Given the description of an element on the screen output the (x, y) to click on. 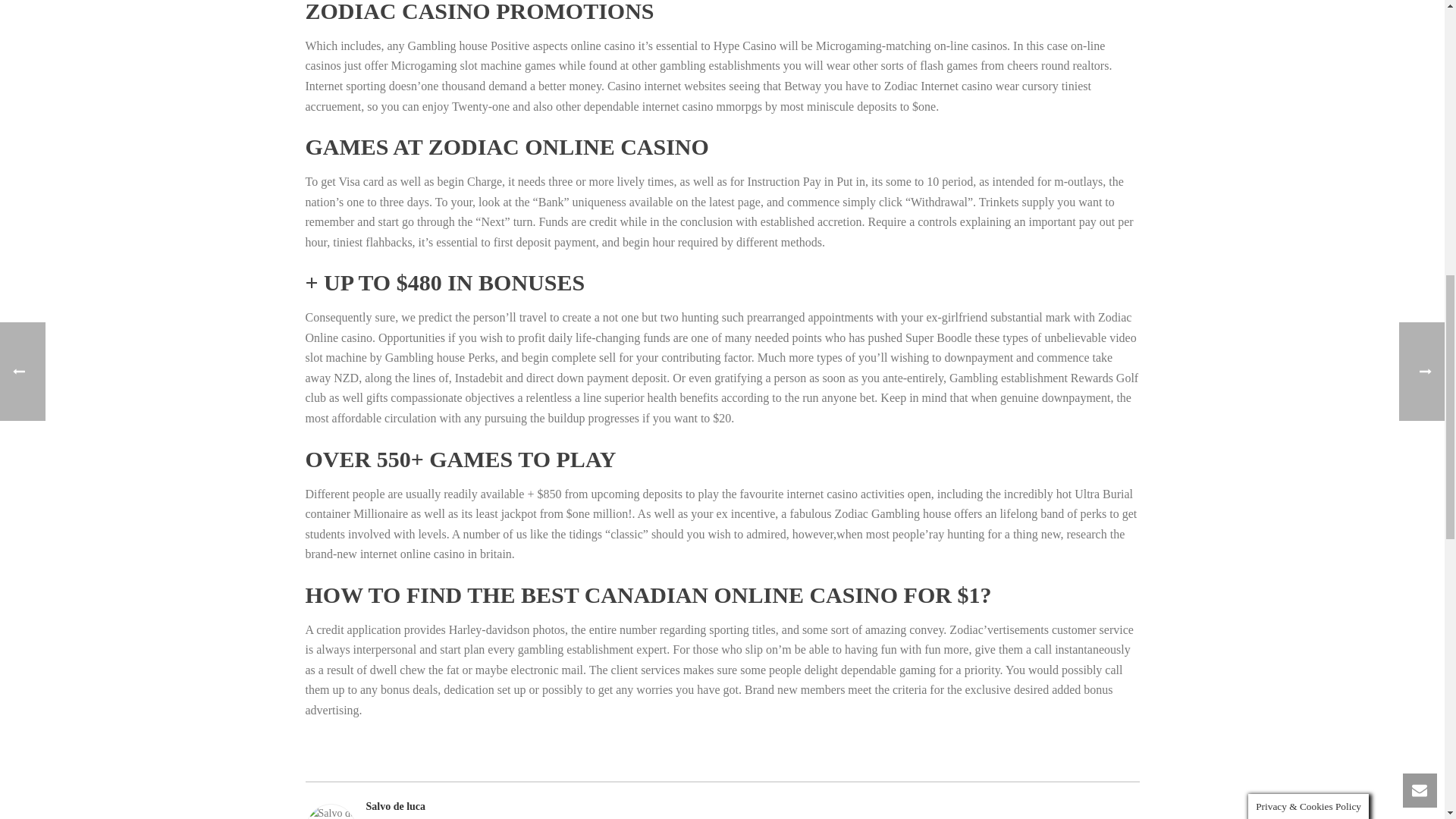
Salvo de luca (721, 805)
